Given the description of an element on the screen output the (x, y) to click on. 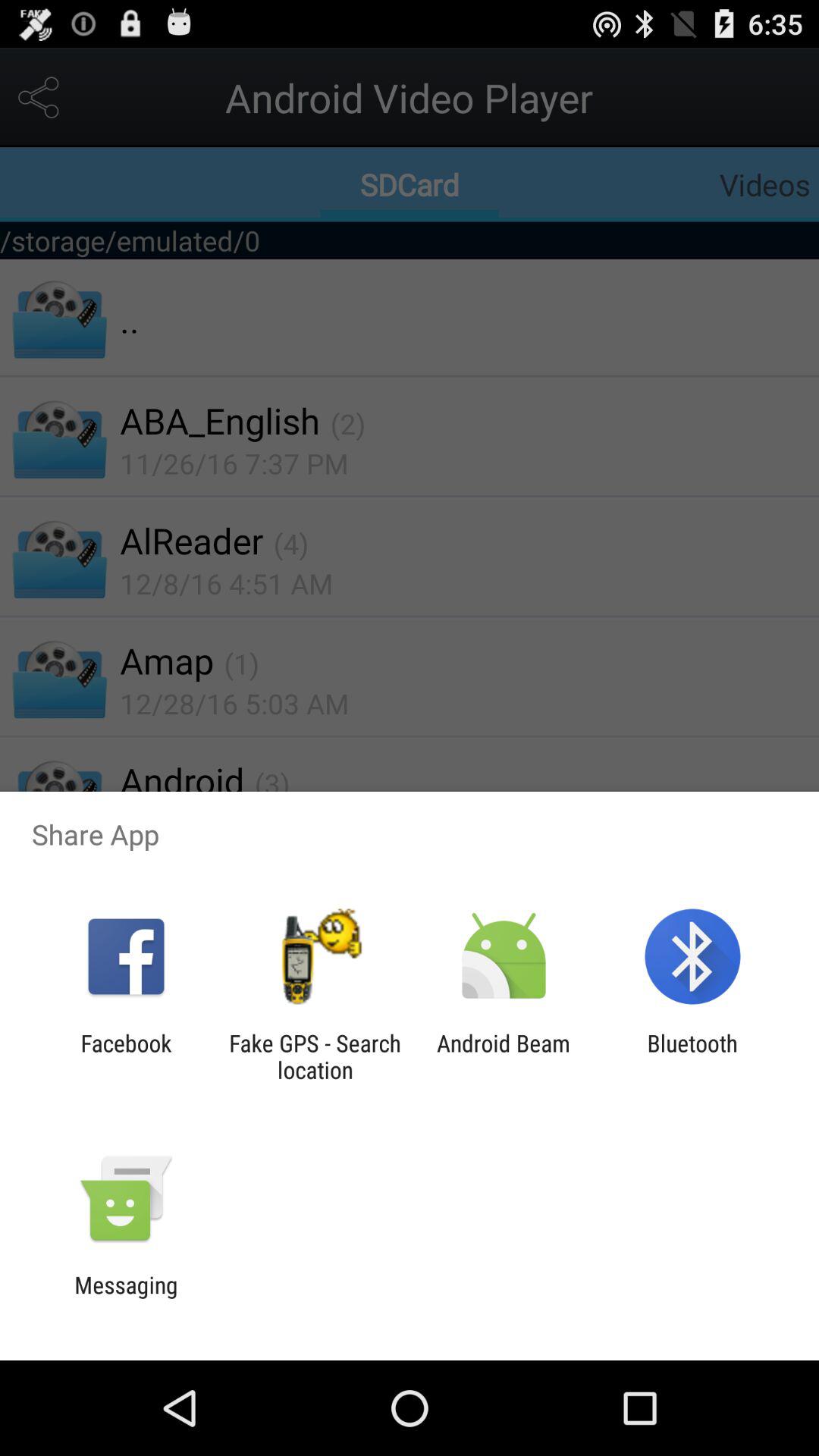
click the app to the left of the fake gps search item (125, 1056)
